Given the description of an element on the screen output the (x, y) to click on. 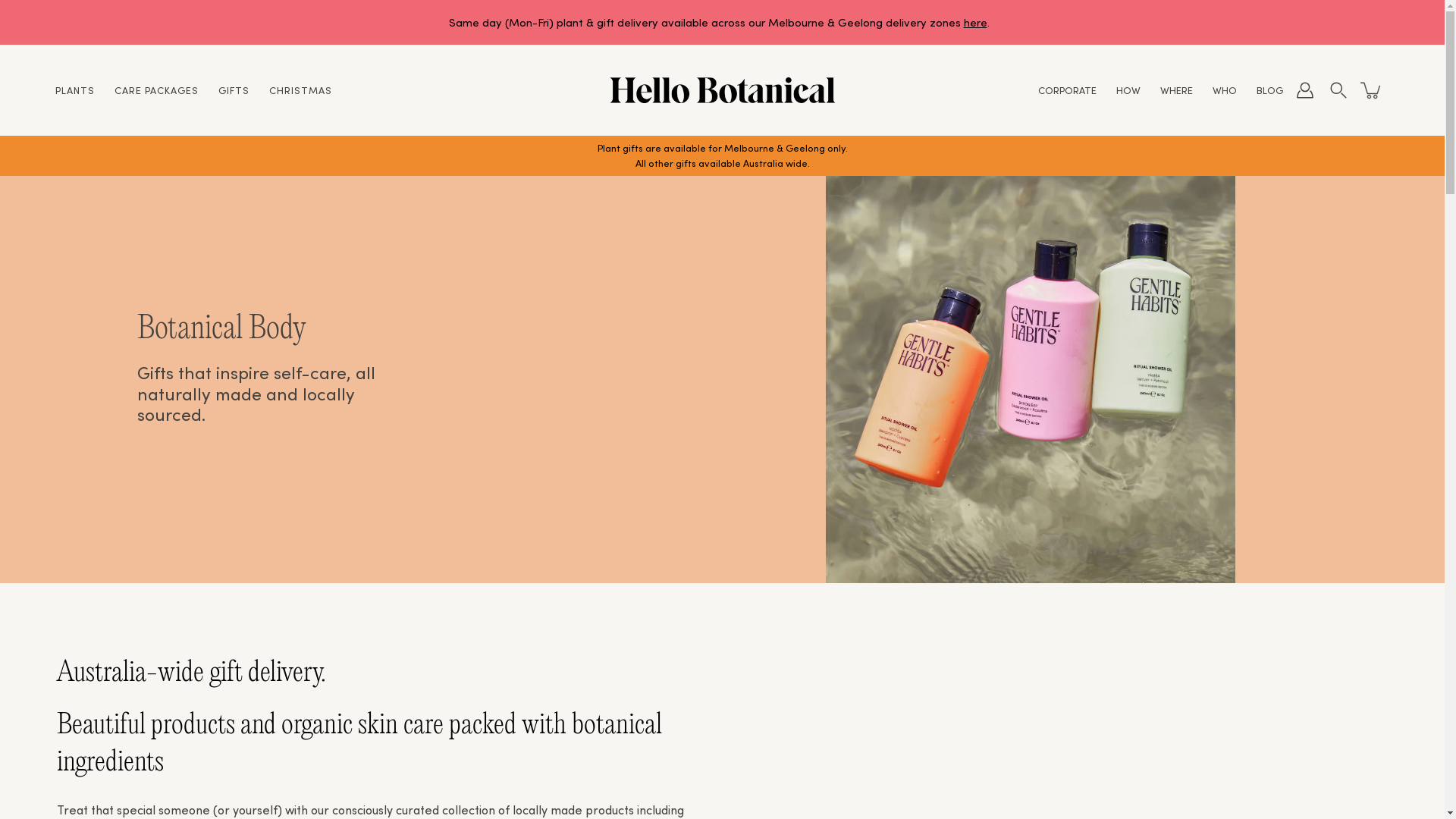
WHERE Element type: text (1176, 89)
HOW Element type: text (1128, 89)
Next Element type: text (1353, 22)
WHO Element type: text (1224, 89)
CORPORATE Element type: text (1067, 89)
PLANTS Element type: text (74, 89)
Our Christmas collection is now live! Element type: text (721, 22)
here Element type: text (974, 21)
GIFTS Element type: text (233, 89)
Previous Element type: text (90, 22)
CARE PACKAGES Element type: text (156, 89)
BLOG Element type: text (1269, 89)
CHRISTMAS Element type: text (300, 89)
